Given the description of an element on the screen output the (x, y) to click on. 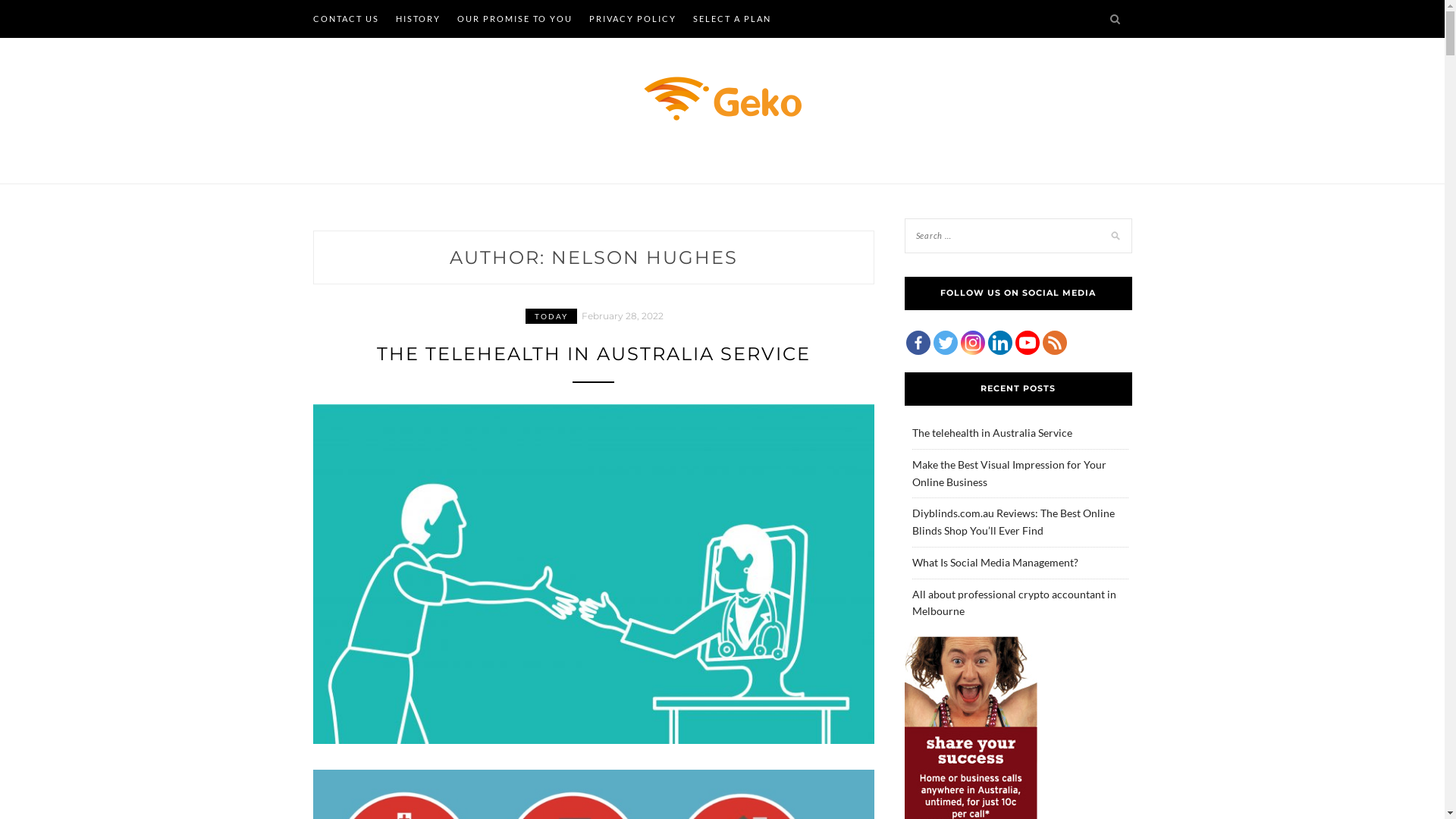
All about professional crypto accountant in Melbourne Element type: text (1013, 601)
Search Element type: text (27, 11)
Make the Best Visual Impression for Your Online Business Element type: text (1008, 473)
Facebook Element type: hover (917, 342)
SELECT A PLAN Element type: text (732, 18)
The telehealth in Australia Service Element type: text (991, 432)
Twitter Element type: hover (944, 342)
HISTORY Element type: text (417, 18)
Linkedin Element type: hover (999, 342)
Instagram Element type: hover (972, 342)
Youtube Element type: hover (1026, 342)
February 28, 2022 Element type: text (622, 314)
Skip to content Element type: text (0, 0)
THE TELEHEALTH IN AUSTRALIA SERVICE Element type: text (592, 353)
PRIVACY POLICY Element type: text (631, 18)
TODAY Element type: text (551, 315)
CONTACT US Element type: text (345, 18)
What Is Social Media Management? Element type: text (994, 561)
OUR PROMISE TO YOU Element type: text (513, 18)
RSS feed Element type: hover (1053, 342)
